Given the description of an element on the screen output the (x, y) to click on. 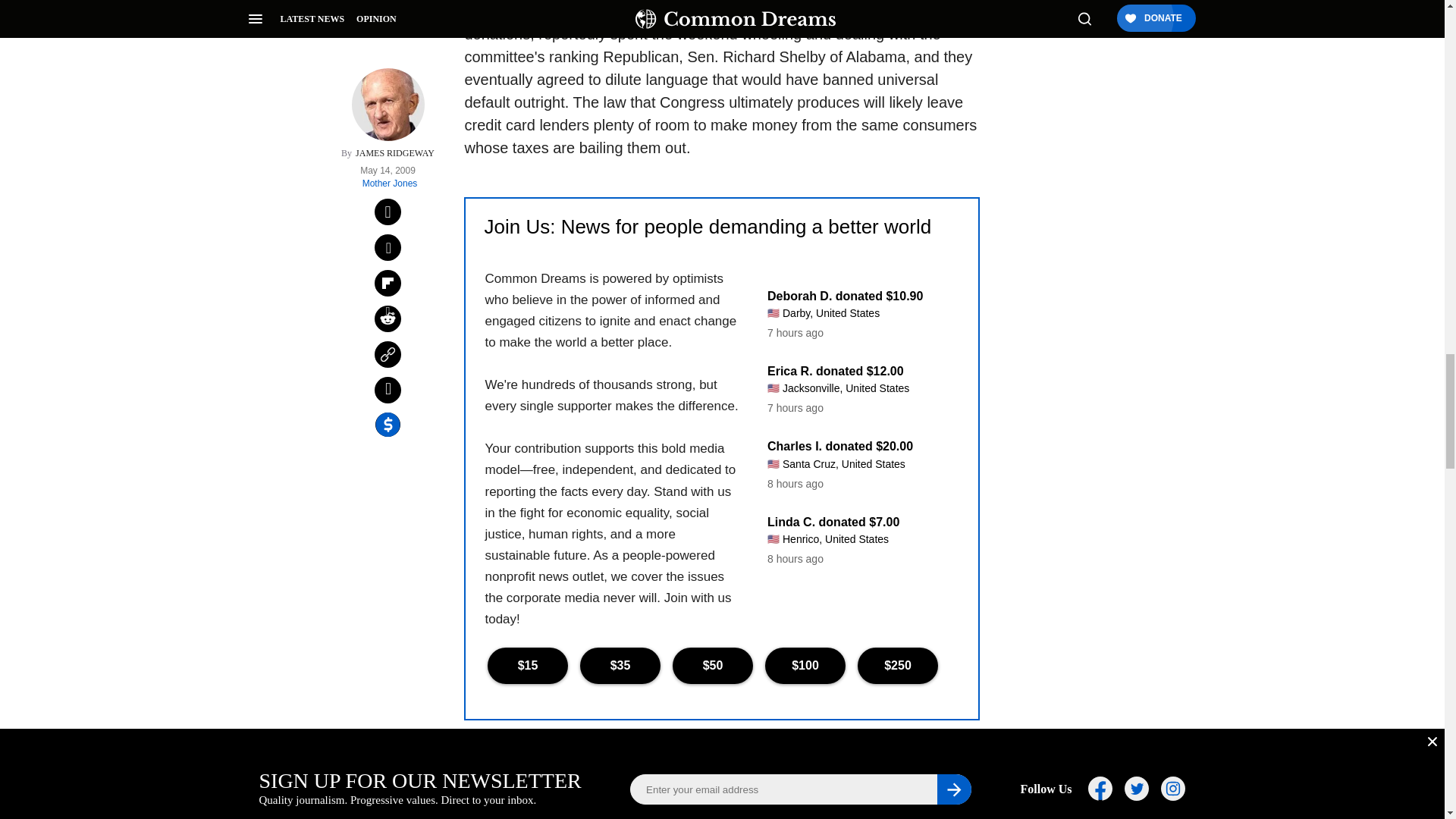
Donate Button Group (721, 665)
